Given the description of an element on the screen output the (x, y) to click on. 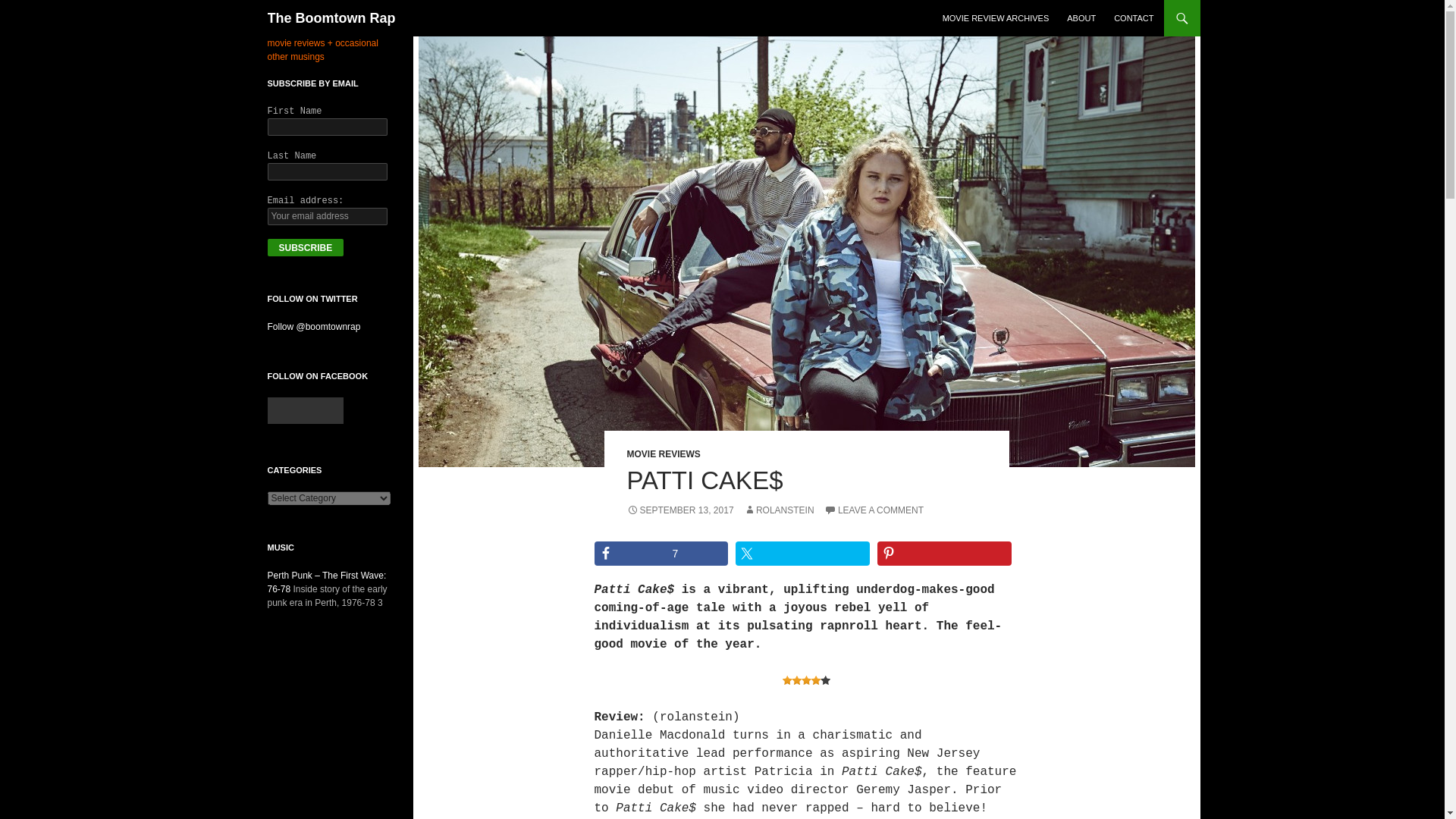
ROLANSTEIN (778, 510)
Share on Facebook (661, 553)
ABOUT (1081, 18)
LEAVE A COMMENT (873, 510)
MOVIE REVIEWS (663, 453)
7 (661, 553)
Share on Twitter (802, 553)
Subscribe (304, 247)
Share on Pinterest (944, 553)
Subscribe (304, 247)
